Given the description of an element on the screen output the (x, y) to click on. 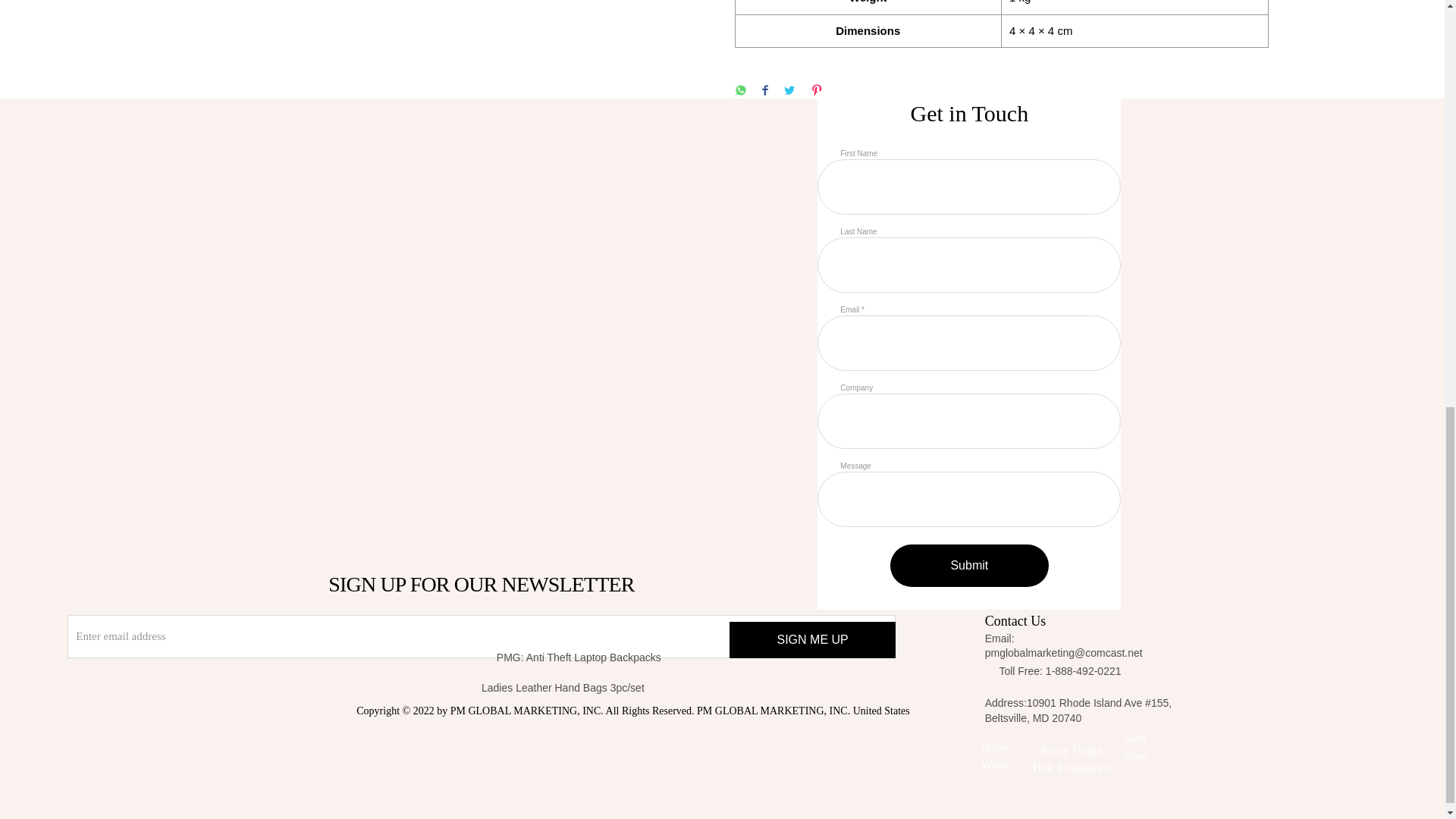
PMG: Anti Theft Laptop Backpacks (622, 657)
SIGN ME UP (812, 639)
Submit (968, 565)
